Given the description of an element on the screen output the (x, y) to click on. 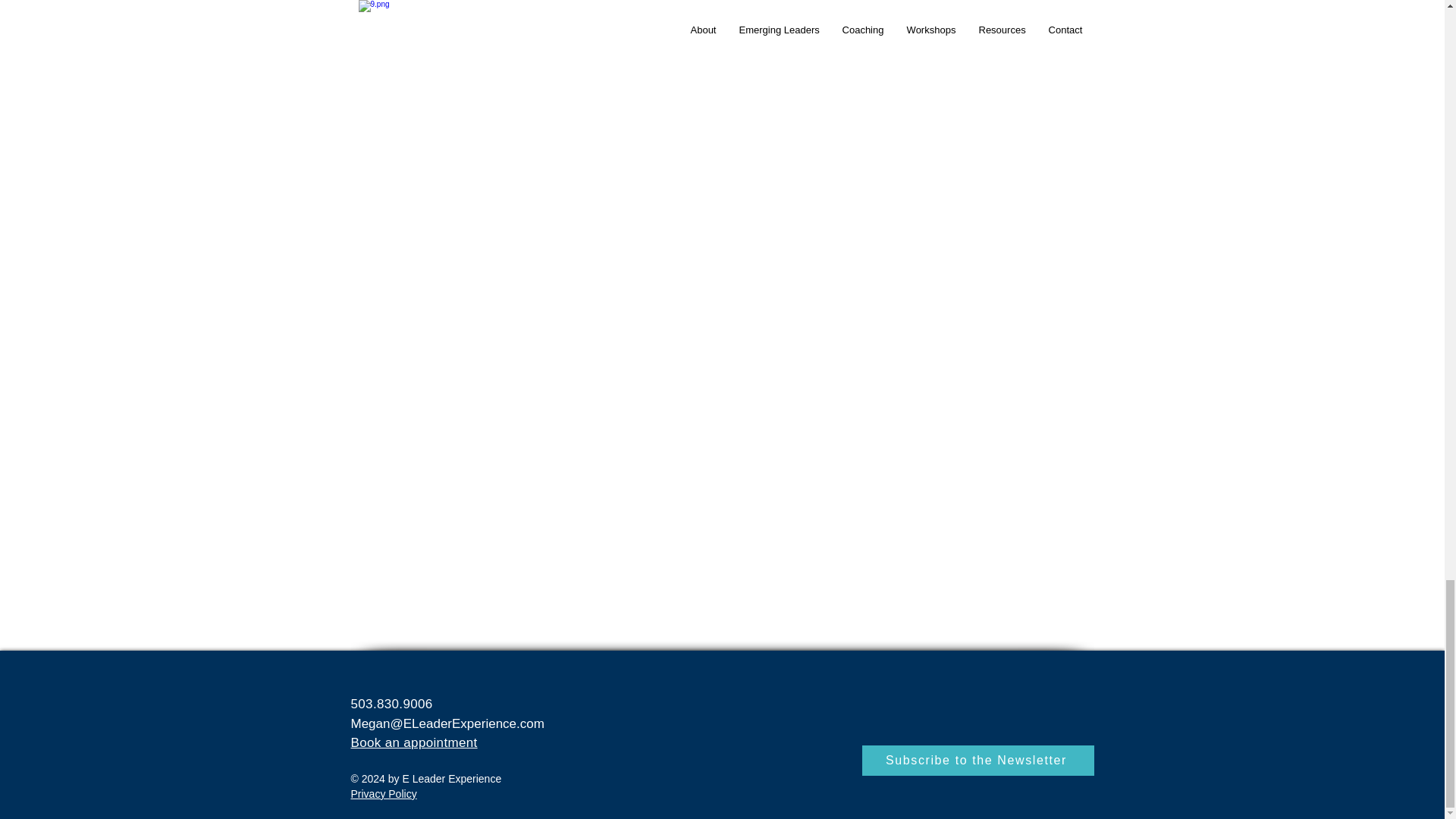
Privacy Policy (383, 793)
Subscribe to the Newsletter (977, 760)
Book an appointment (413, 742)
